Given the description of an element on the screen output the (x, y) to click on. 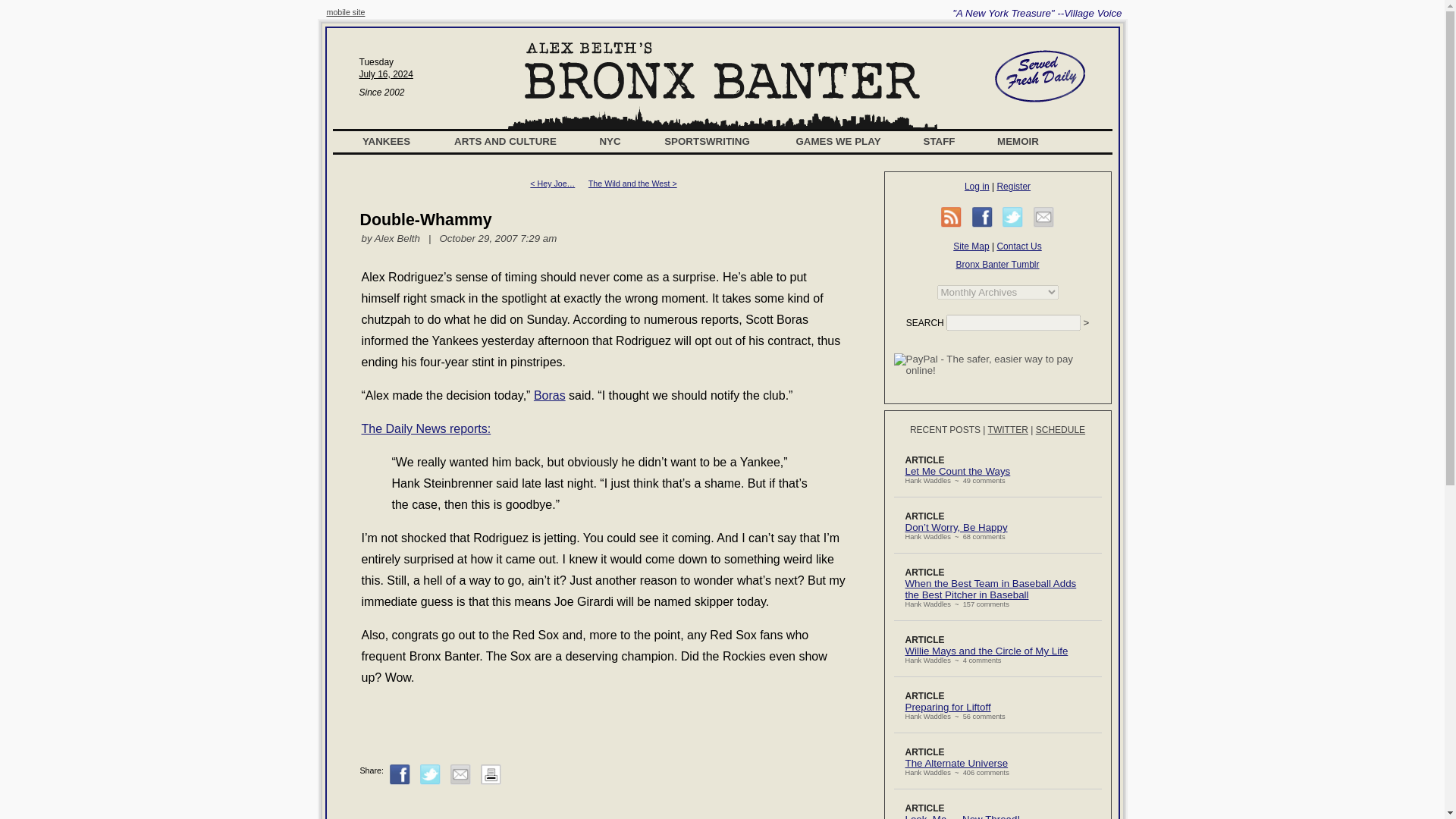
Permanent link to Willie Mays and the Circle of My Life (986, 650)
YANKEES (386, 141)
ARTS AND CULTURE (504, 141)
Print This Post (490, 774)
Permanent link to The Alternate Universe (957, 763)
Share on Twitter (1013, 217)
Permanent link to Let Me Count the Ways (957, 471)
Subscription feed (950, 217)
Share via email (459, 774)
NYC (610, 141)
Share on Twitter (430, 774)
Share on Facebook (400, 774)
Share on Facebook (982, 217)
mobile site (345, 11)
